Given the description of an element on the screen output the (x, y) to click on. 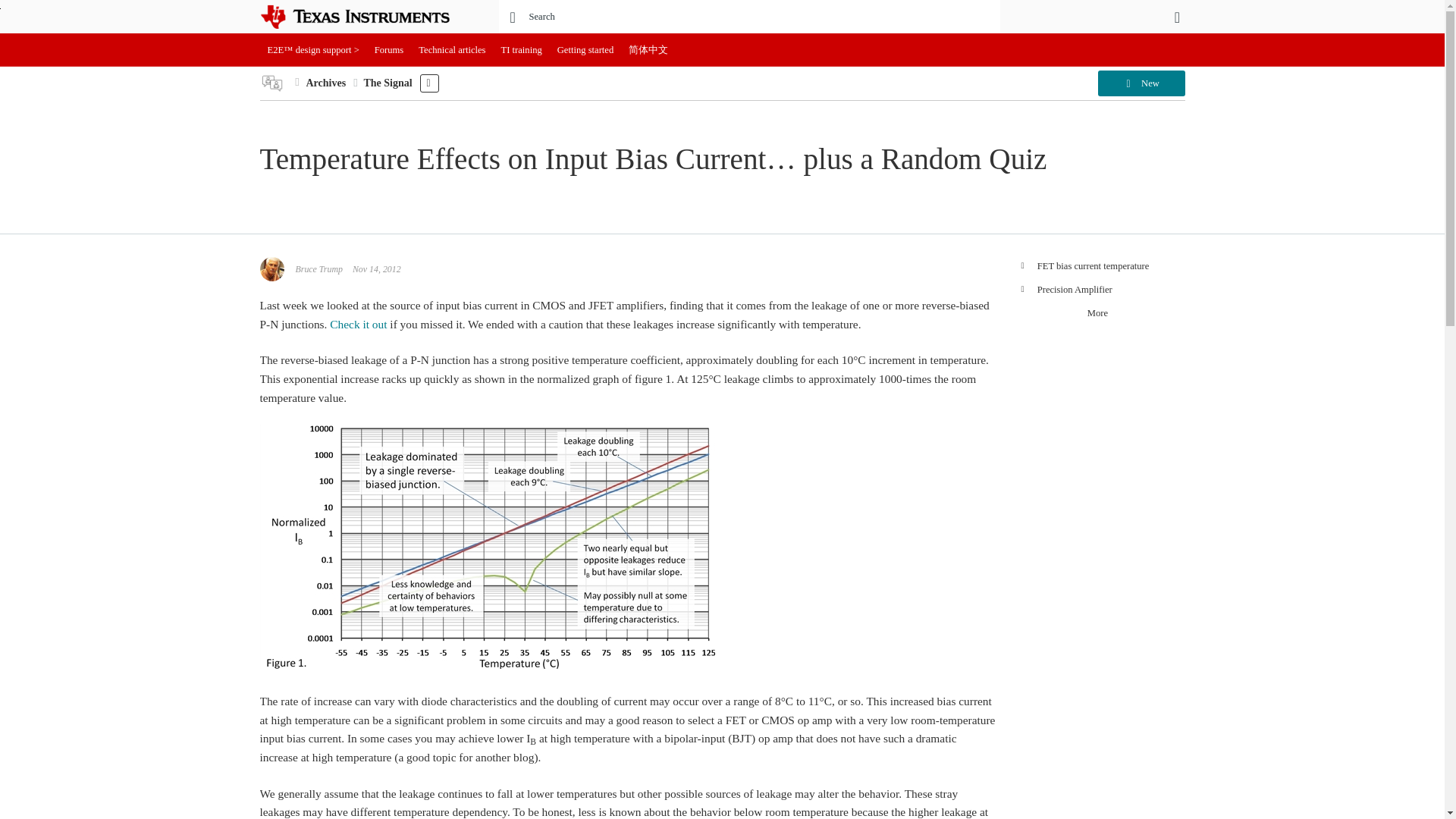
Home (365, 16)
Technical articles (451, 49)
Join or sign in (1177, 17)
Forums (389, 49)
TI training (521, 49)
Up to Technical articles (296, 82)
User (1177, 17)
Getting started (585, 49)
